Given the description of an element on the screen output the (x, y) to click on. 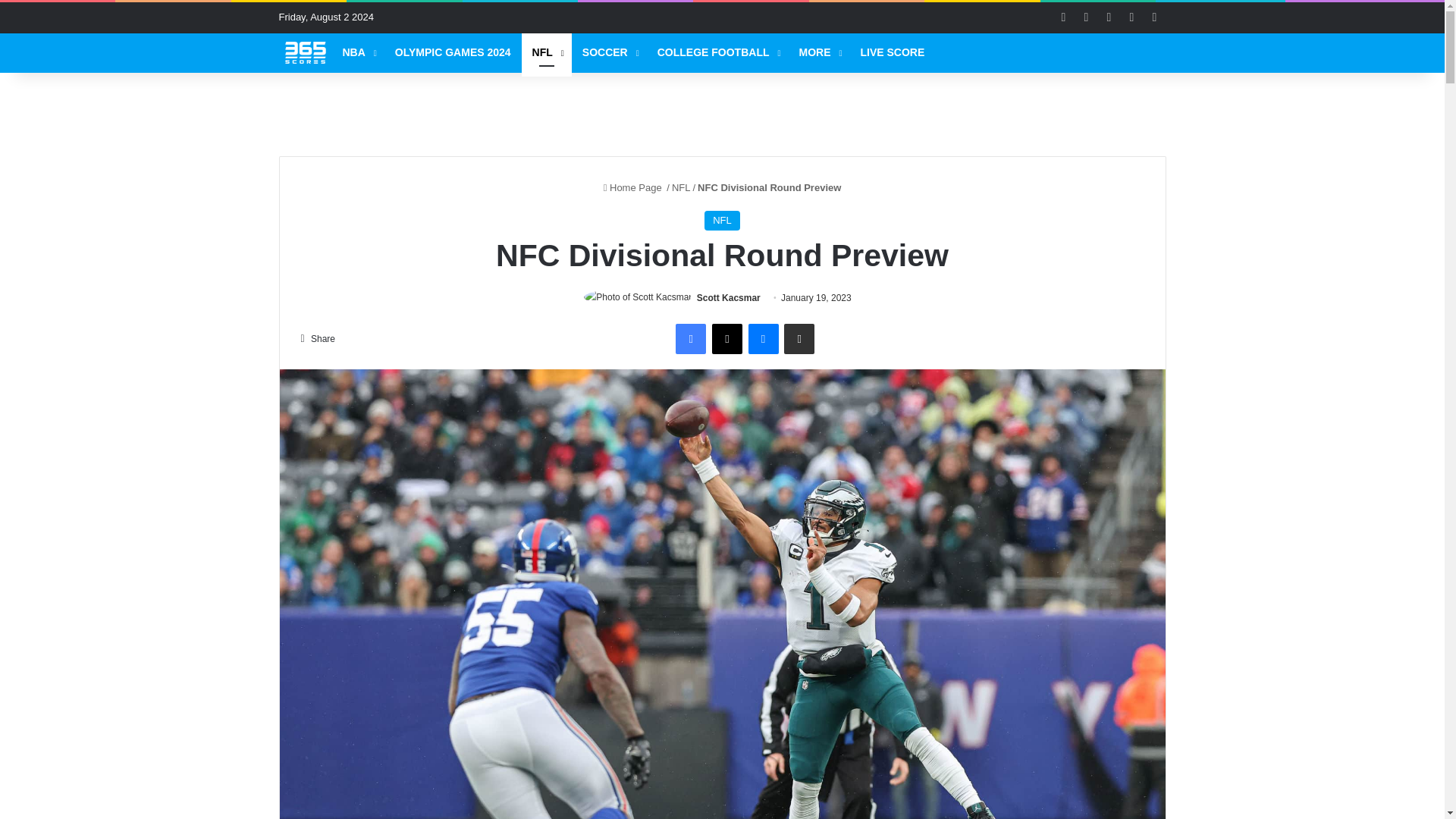
Home Page (634, 187)
NFL (546, 52)
Scott Kacsmar (728, 297)
Share by email (798, 338)
365scores.com (305, 52)
X (726, 338)
NBA (357, 52)
COLLEGE FOOTBALL (717, 52)
X (726, 338)
OLYMPIC GAMES 2024 (452, 52)
Messenger (763, 338)
LIVE SCORE (891, 52)
Facebook (690, 338)
MORE (819, 52)
NFL (721, 220)
